Given the description of an element on the screen output the (x, y) to click on. 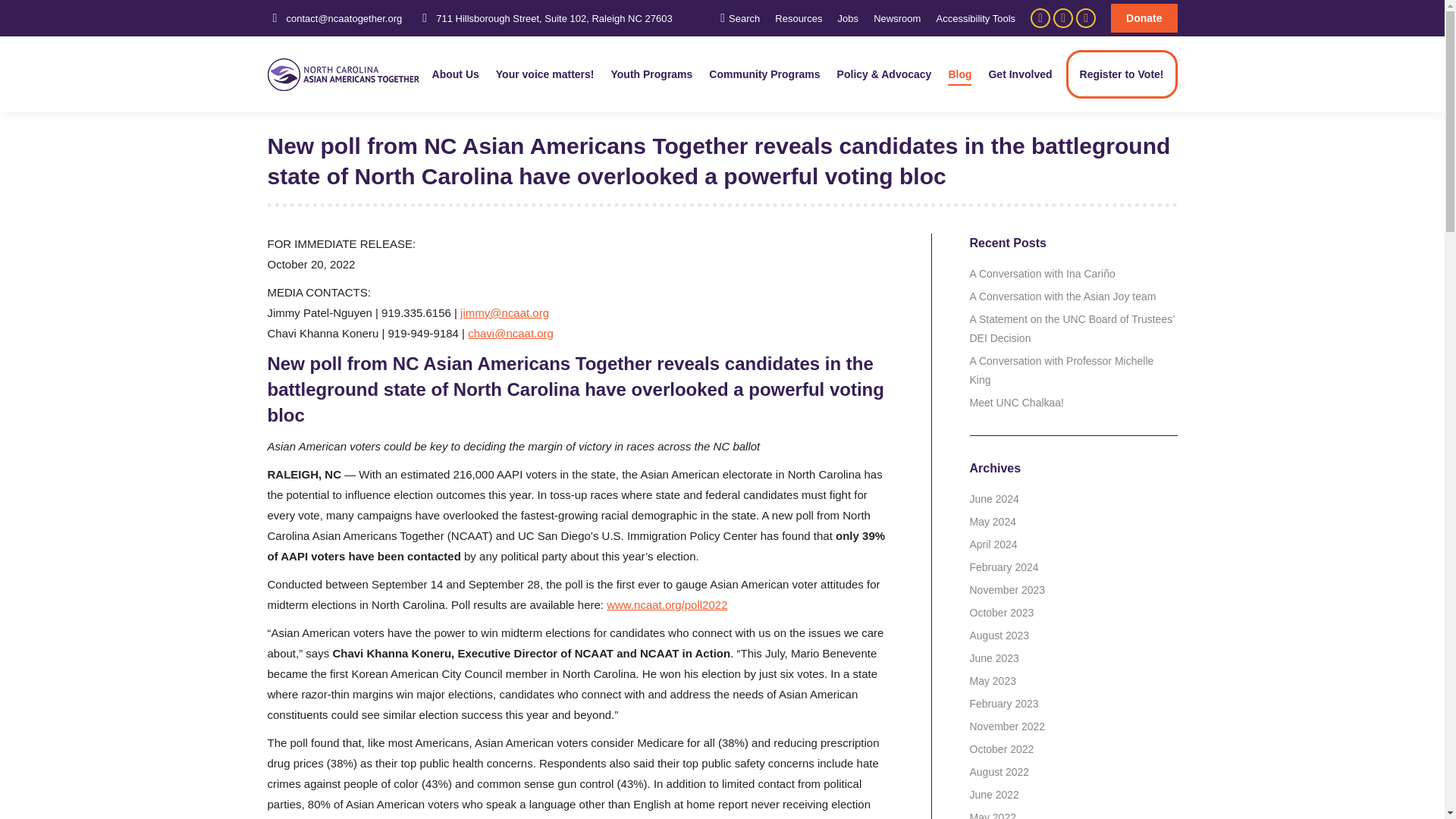
Instagram page opens in new window (1085, 17)
Jobs (848, 17)
Instagram page opens in new window (1085, 17)
Accessibility Tools (976, 17)
Resources (798, 17)
Youth Programs (651, 73)
Community Programs (764, 73)
Donate (1143, 18)
Twitter page opens in new window (1062, 17)
Facebook page opens in new window (1039, 17)
